Given the description of an element on the screen output the (x, y) to click on. 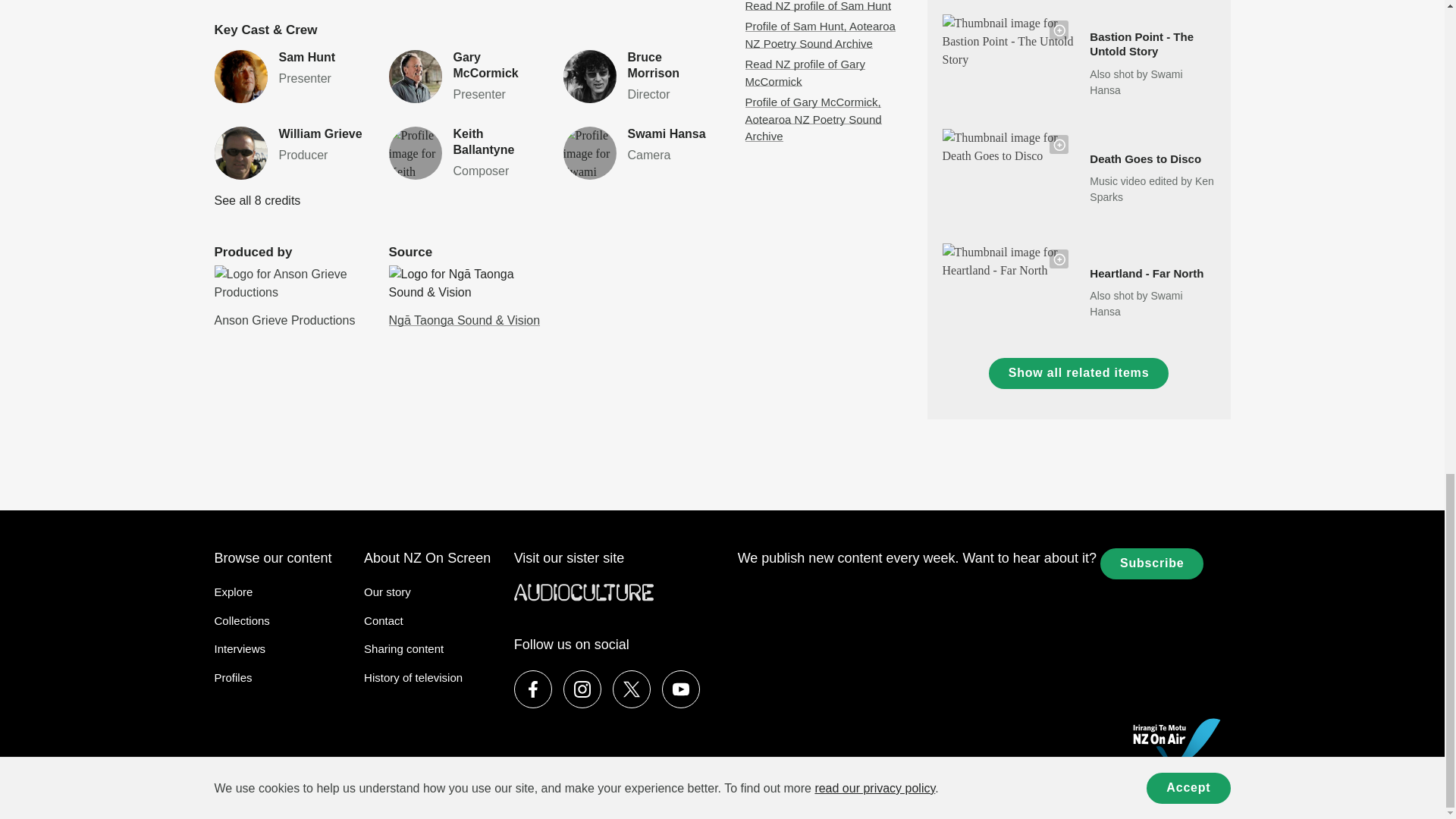
Watch more on YouTube (681, 689)
See all 8 credits (638, 76)
Check out Twitter (289, 76)
Check out Instagram (464, 76)
Connect with us on Facebook (256, 200)
